Given the description of an element on the screen output the (x, y) to click on. 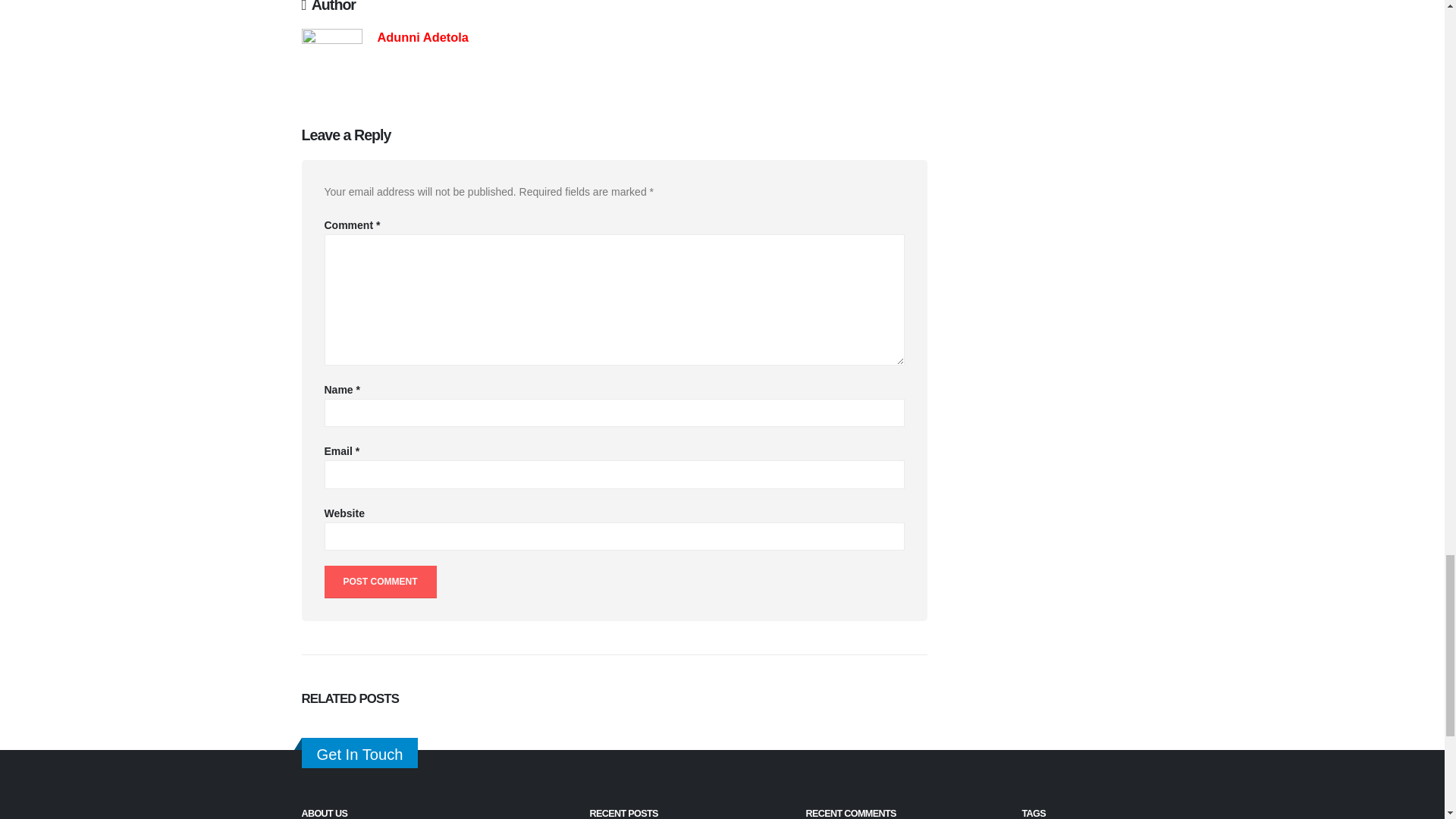
Posts by Adunni Adetola (422, 37)
Post Comment (380, 581)
Adunni Adetola (422, 37)
